Given the description of an element on the screen output the (x, y) to click on. 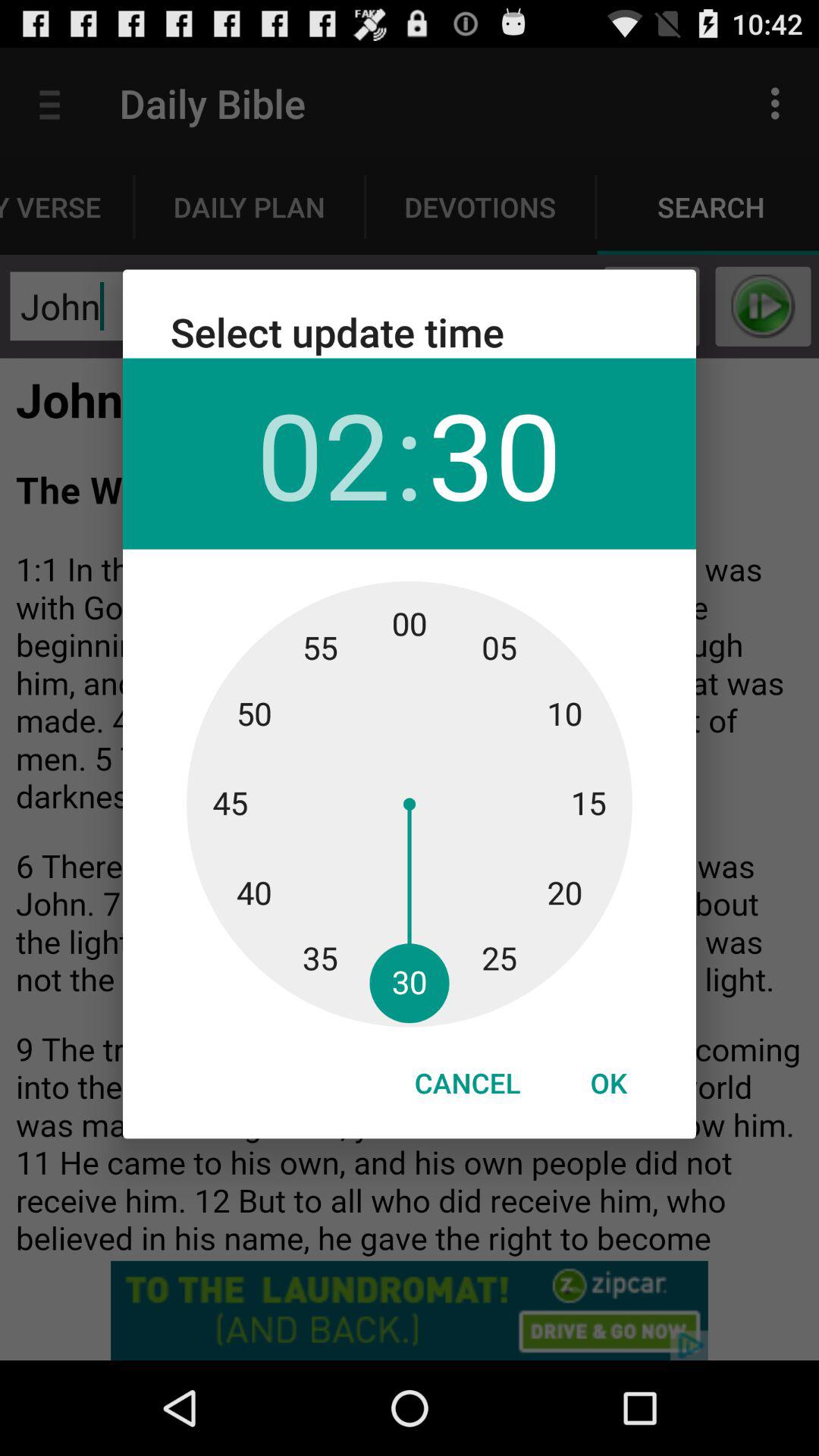
tap the item next to the : icon (494, 453)
